Given the description of an element on the screen output the (x, y) to click on. 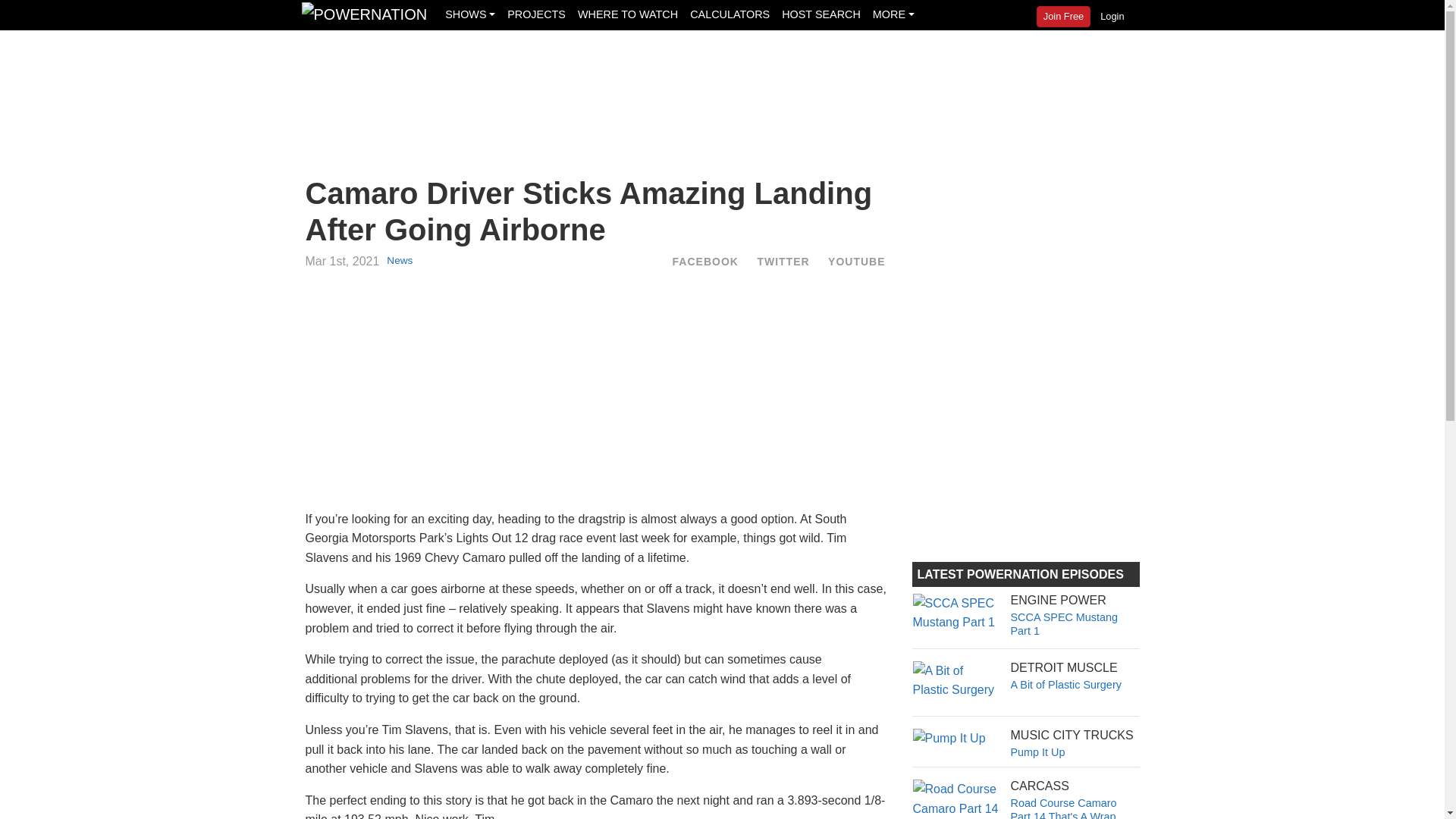
Join Free (1024, 743)
PROJECTS (1024, 615)
YOUTUBE (1063, 16)
SHOWS (1024, 675)
HOST SEARCH (1024, 798)
FACEBOOK (536, 14)
MORE (856, 261)
Login (469, 14)
TWITTER (821, 14)
WHERE TO WATCH (705, 261)
News (893, 14)
